Given the description of an element on the screen output the (x, y) to click on. 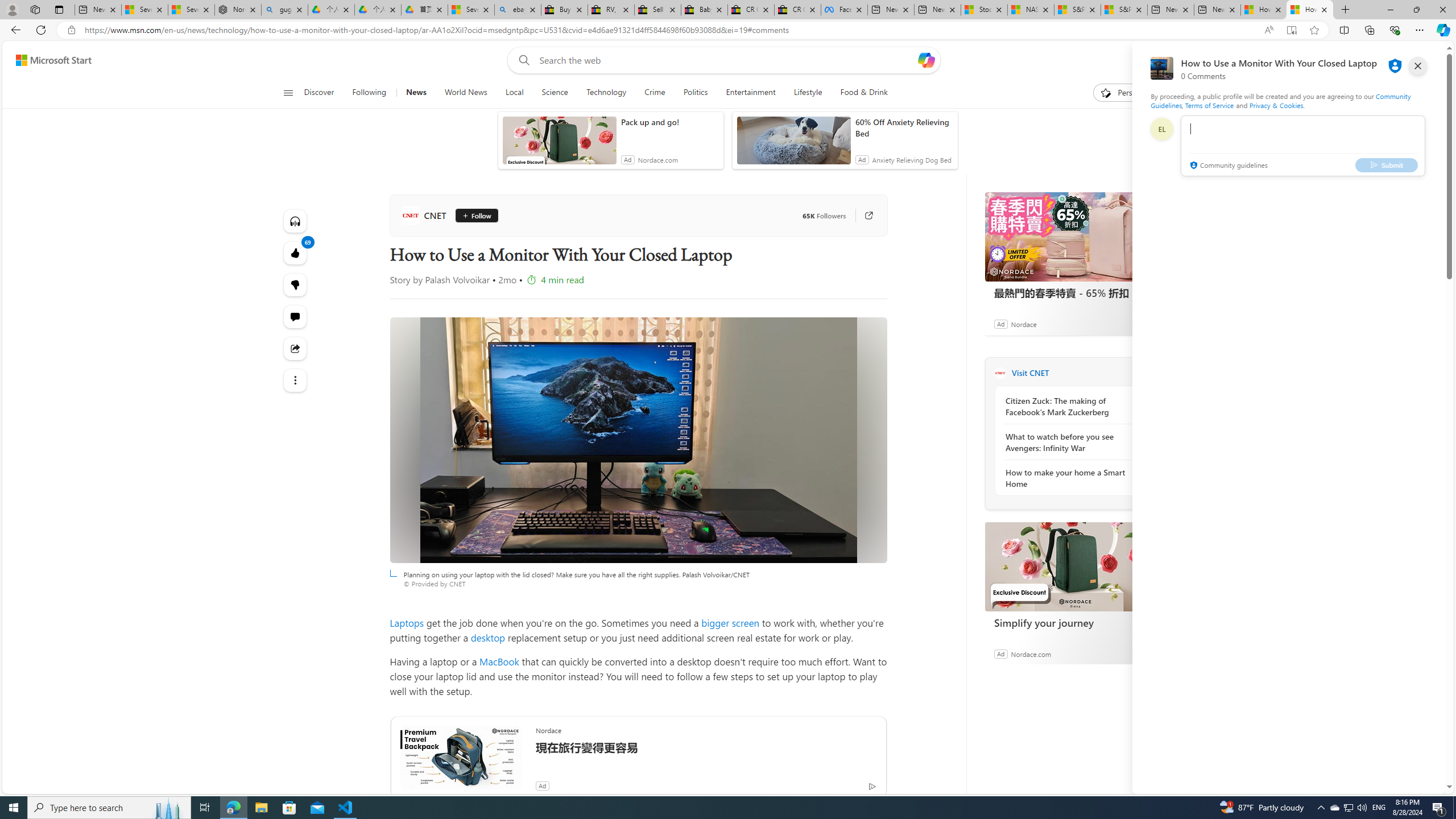
Anxiety Relieving Dog Bed (912, 159)
Food & Drink (864, 92)
Community guidelines (1228, 165)
Science (554, 92)
Submit (1386, 164)
Go to publisher's site (863, 215)
Visit CNET website (1140, 372)
Open navigation menu (287, 92)
Food & Drink (859, 92)
